Given the description of an element on the screen output the (x, y) to click on. 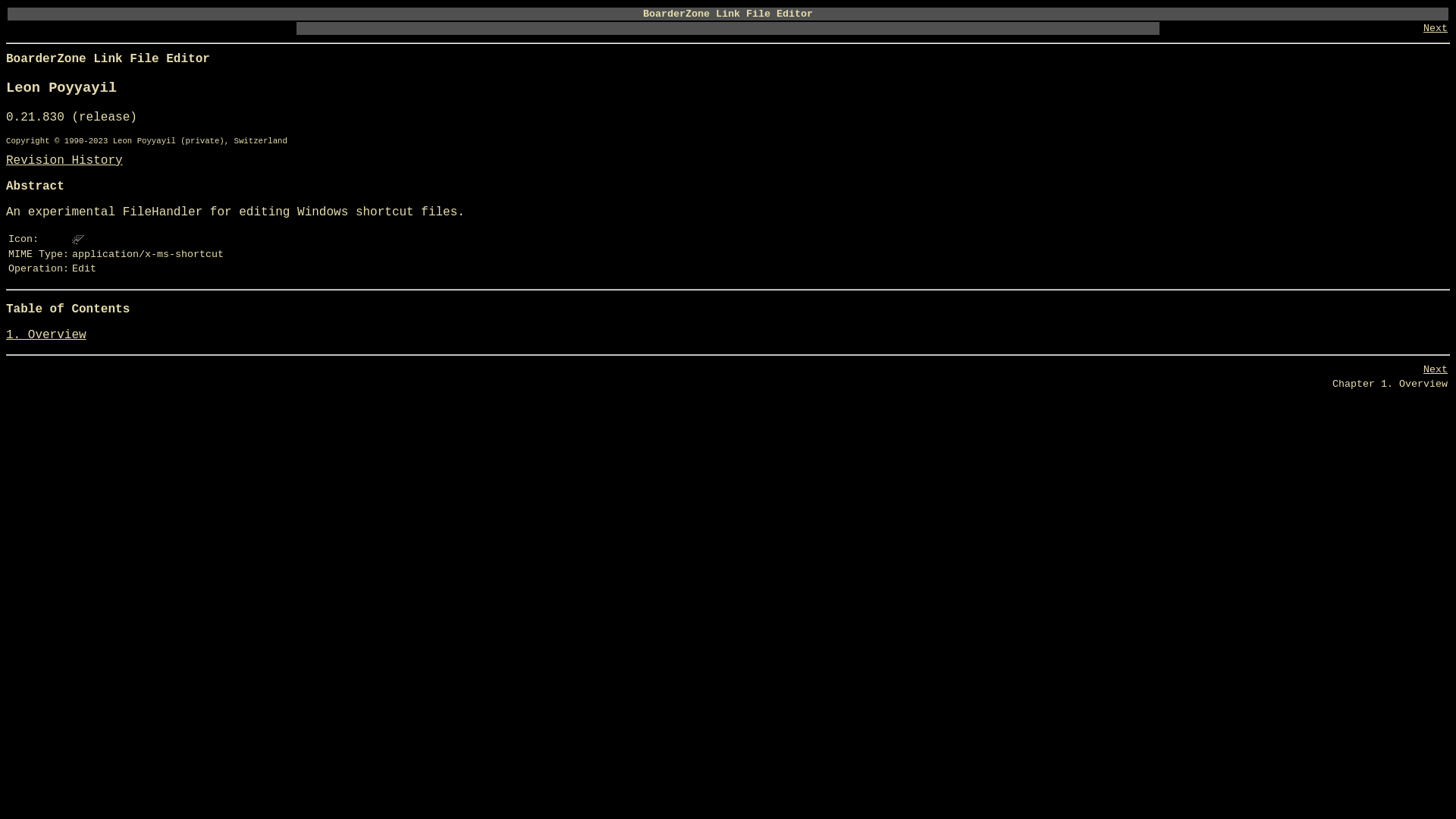
1. Overview Element type: text (46, 335)
Revision History Element type: text (64, 160)
Next Element type: text (1435, 28)
Next Element type: text (1435, 369)
